Given the description of an element on the screen output the (x, y) to click on. 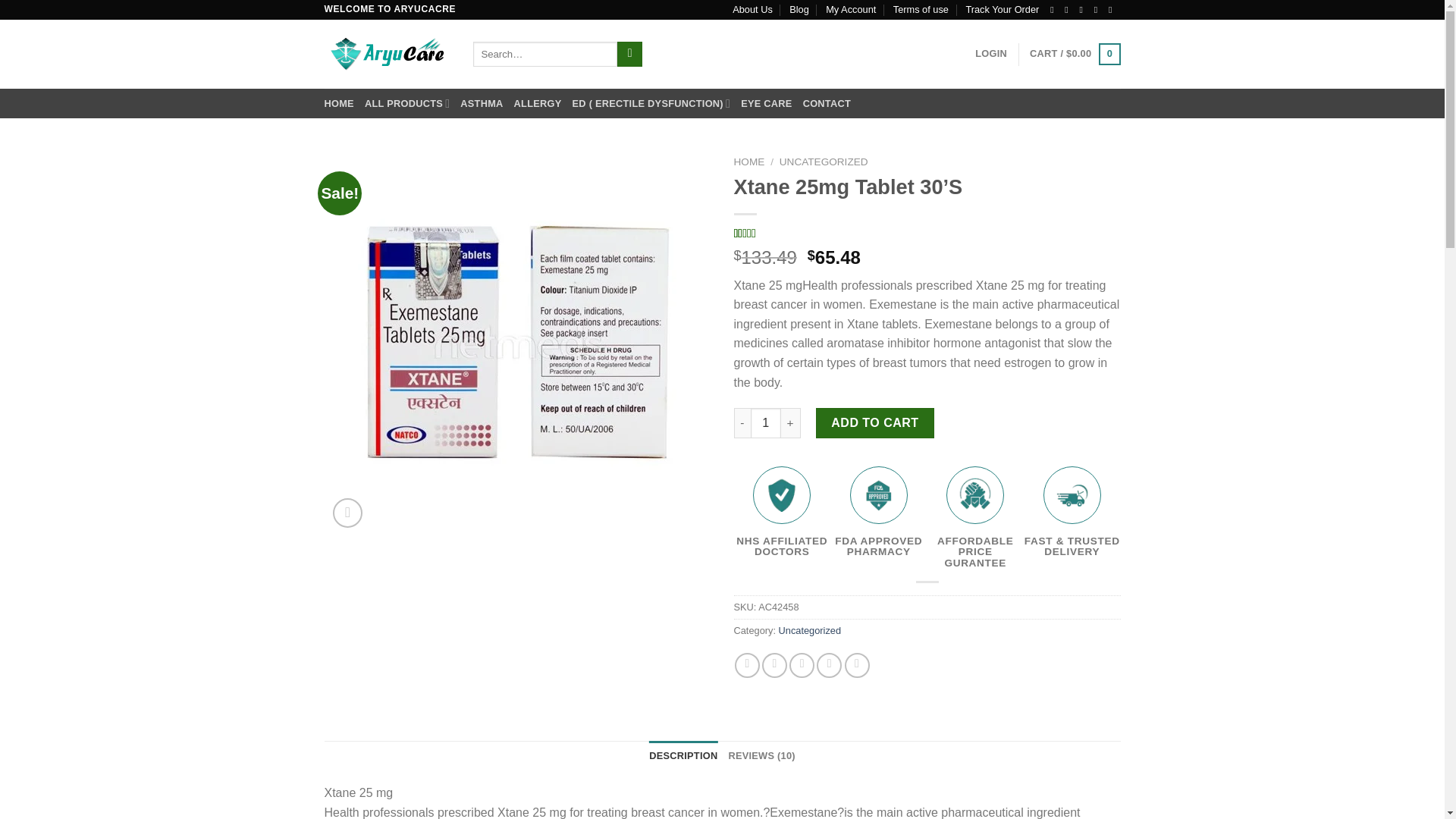
Track Your Order (1002, 9)
Search (629, 54)
My Account (850, 9)
Blog (799, 9)
ALLERGY (537, 103)
LOGIN (991, 53)
Terms of use (921, 9)
HOME (338, 103)
About Us (752, 9)
1 (765, 422)
